Given the description of an element on the screen output the (x, y) to click on. 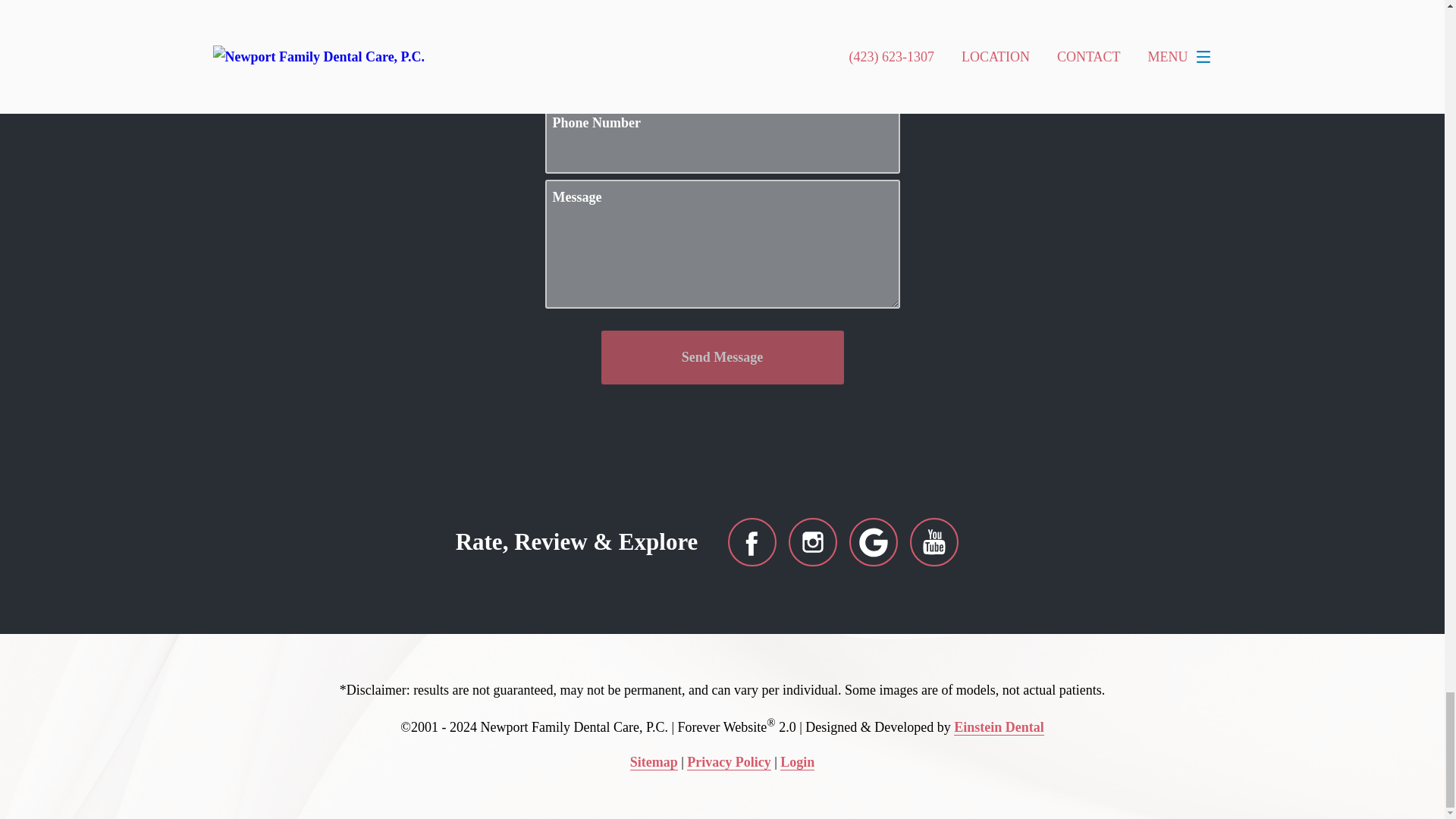
Google (873, 541)
Instagram (813, 541)
Sitemap (654, 762)
Facebook (752, 541)
Send Message (721, 357)
YouTube (934, 541)
Einstein Dental (998, 727)
